Given the description of an element on the screen output the (x, y) to click on. 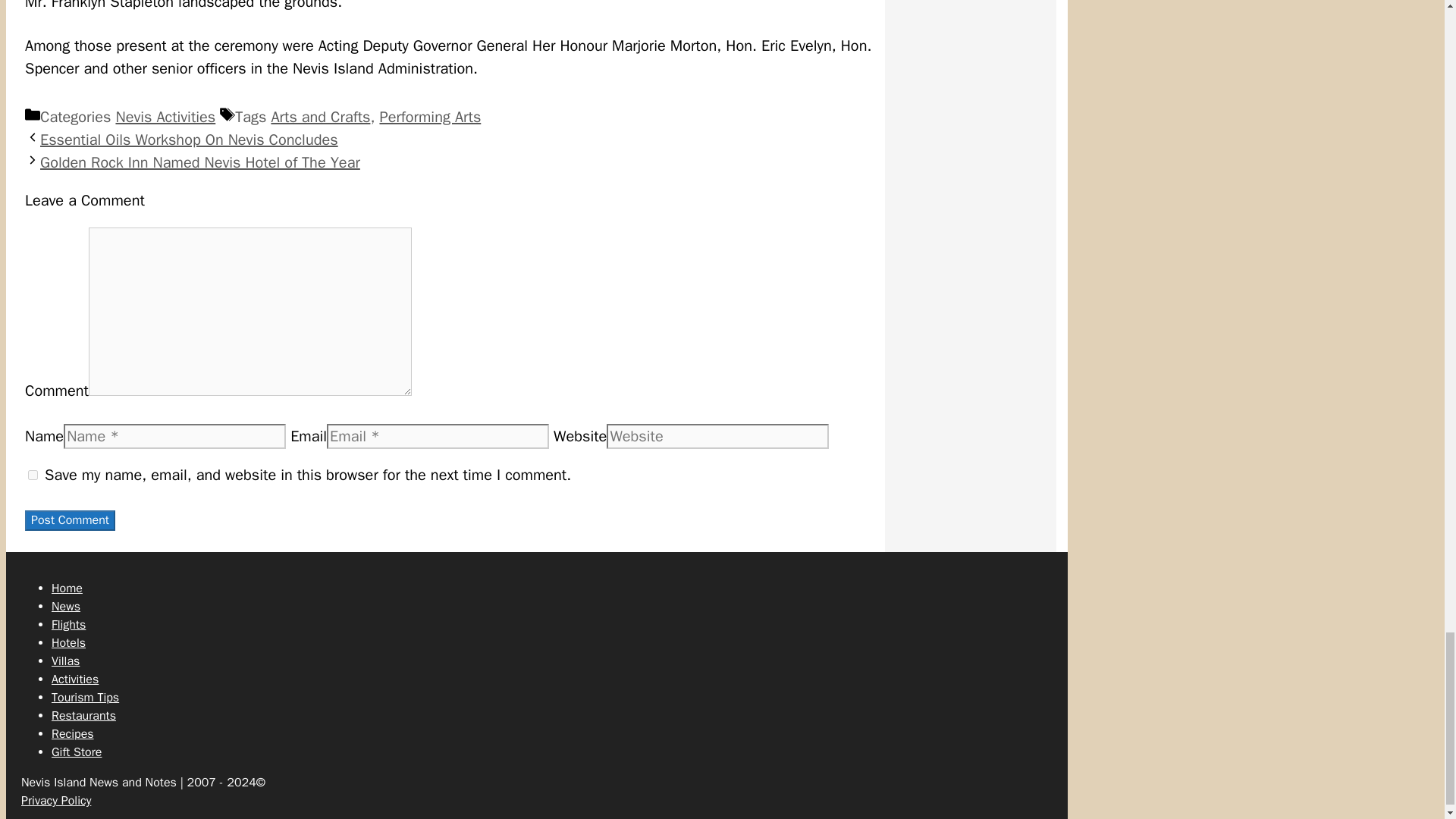
Golden Rock Inn Named Nevis Hotel of The Year (199, 162)
Post Comment (69, 520)
Post Comment (69, 520)
Essential Oils Workshop On Nevis Concludes (188, 139)
Nevis Activities (165, 116)
yes (32, 474)
Performing Arts (429, 116)
Arts and Crafts (319, 116)
